Given the description of an element on the screen output the (x, y) to click on. 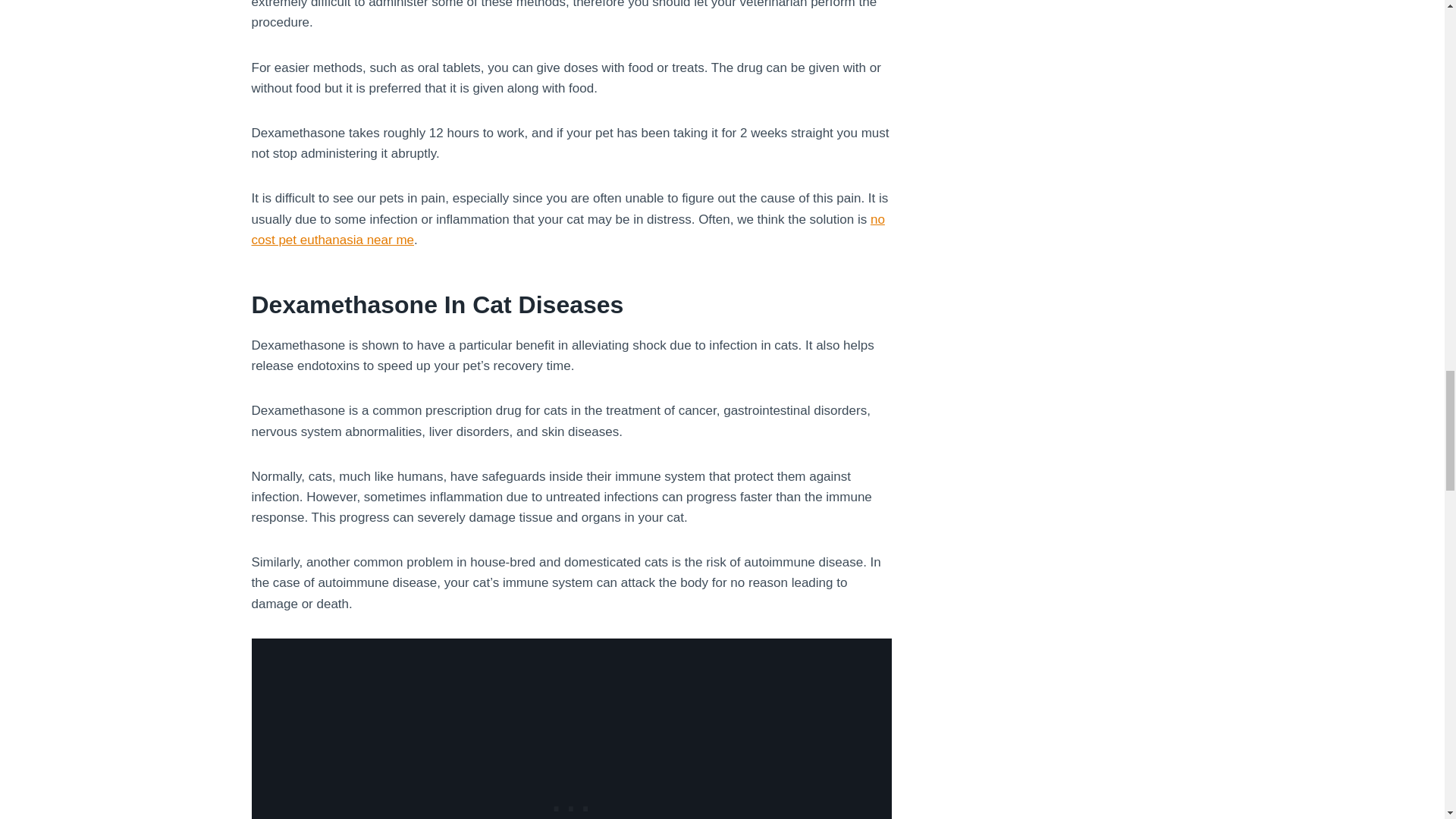
no cost pet euthanasia near me (568, 229)
